Given the description of an element on the screen output the (x, y) to click on. 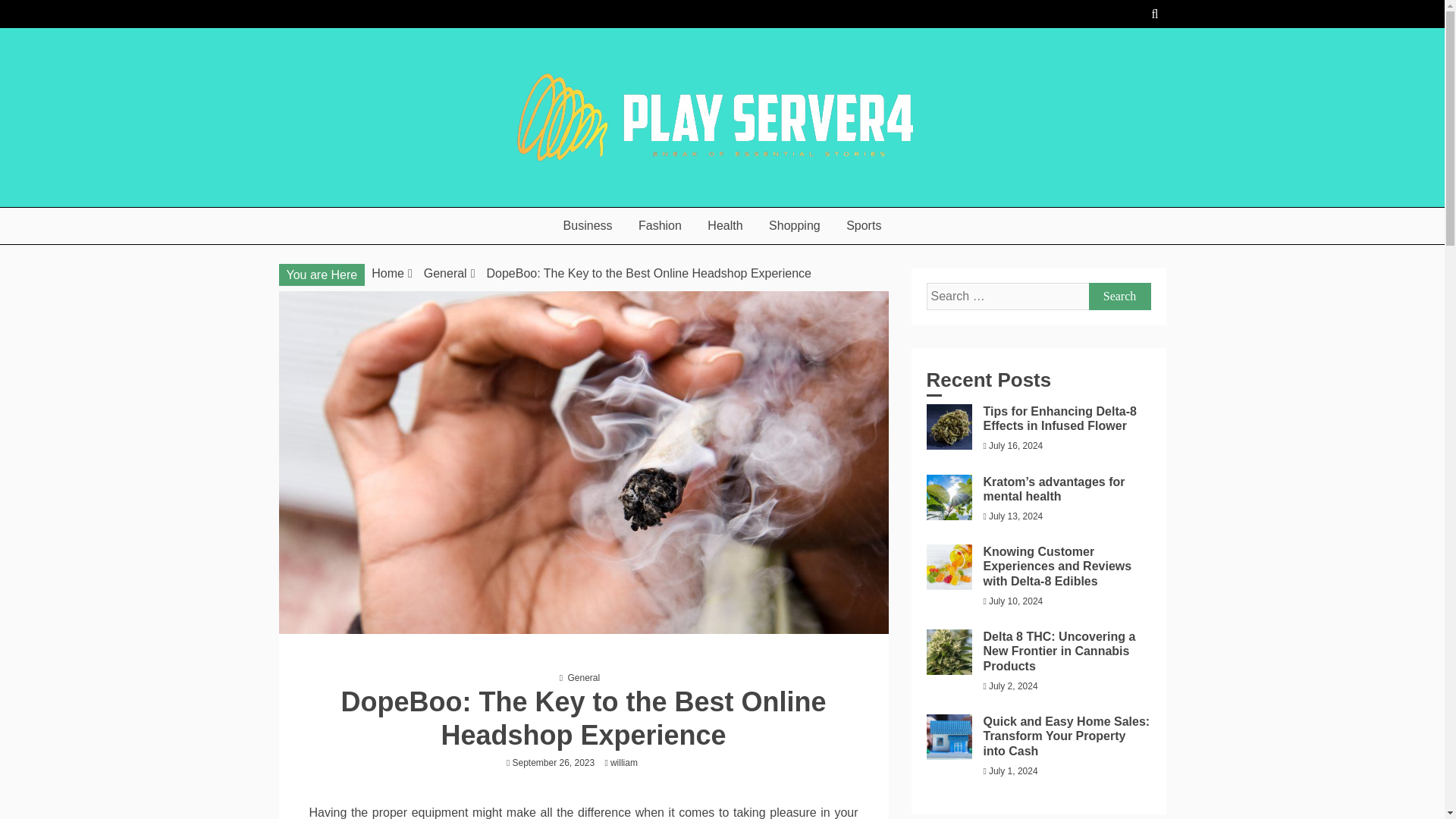
Home (387, 273)
Search (1120, 296)
william (627, 762)
Play Server4 (353, 200)
September 26, 2023 (553, 762)
Search (1120, 296)
July 16, 2024 (1015, 445)
DopeBoo: The Key to the Best Online Headshop Experience (648, 273)
Tips for Enhancing Delta-8 Effects in Infused Flower (1058, 418)
Health (724, 225)
Search (1120, 296)
Sports (863, 225)
Shopping (794, 225)
Business (587, 225)
Fashion (660, 225)
